Given the description of an element on the screen output the (x, y) to click on. 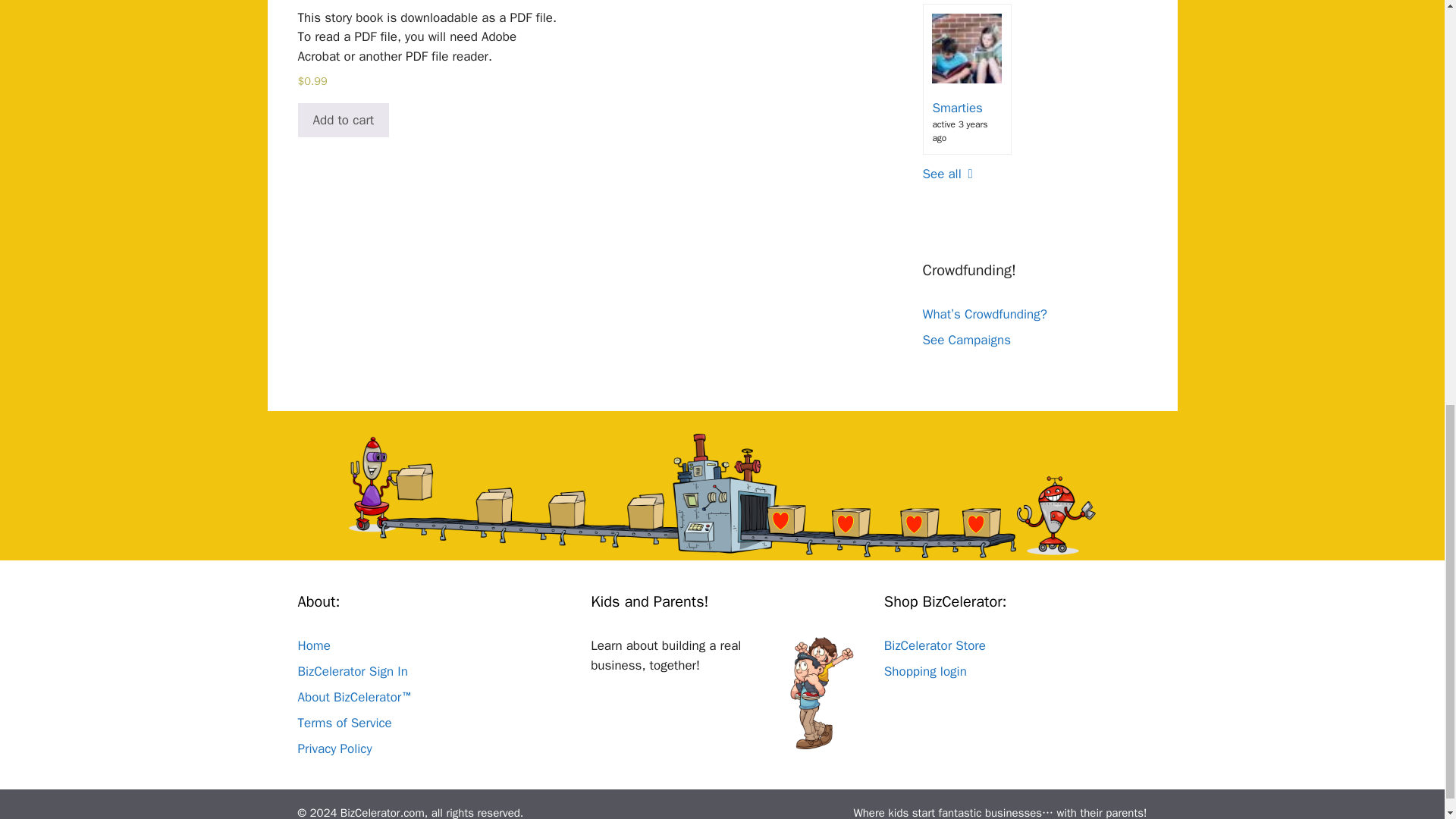
Scroll back to top (1406, 720)
Add to cart (342, 120)
